Given the description of an element on the screen output the (x, y) to click on. 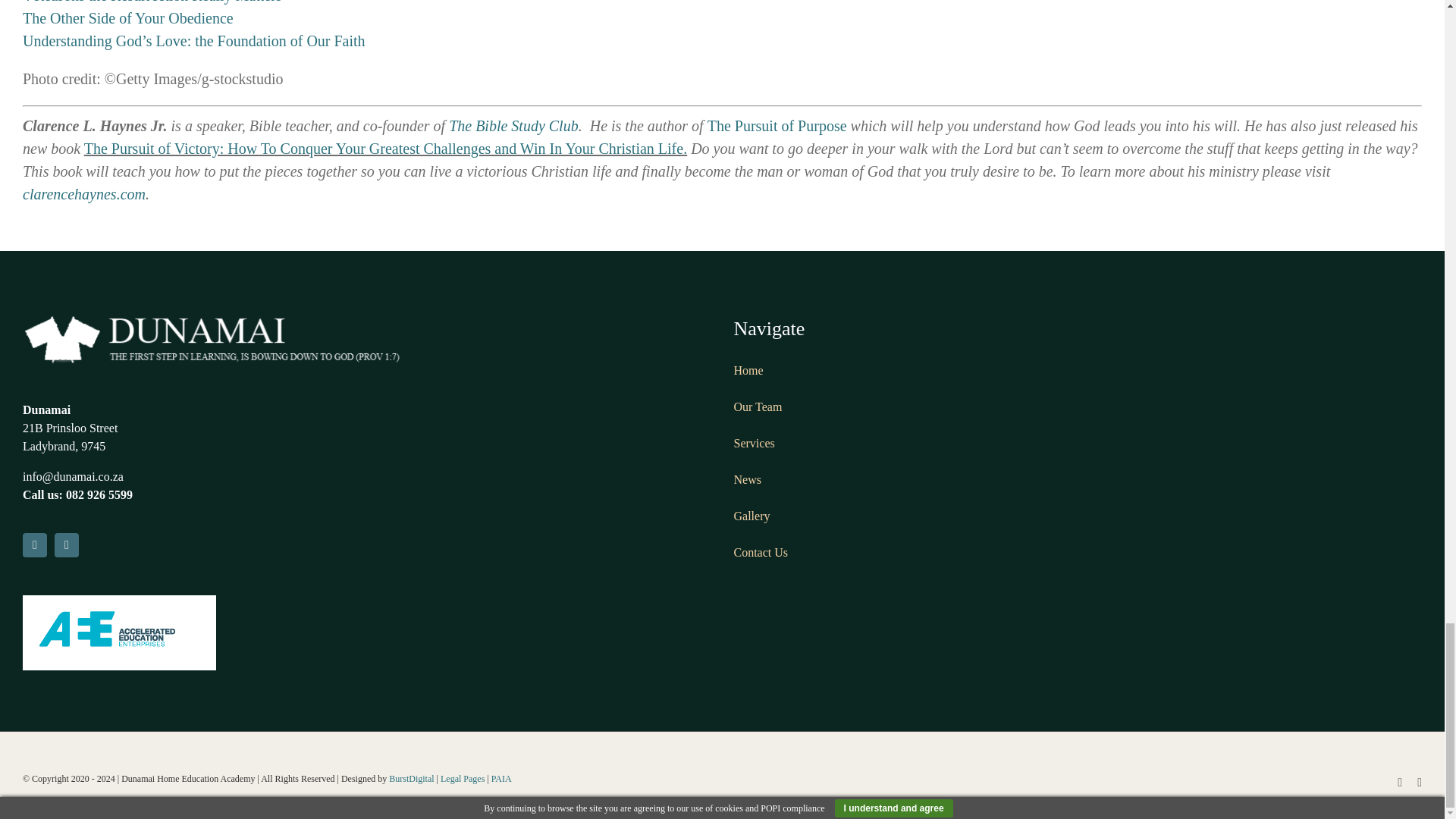
Home (747, 369)
Our Team (758, 406)
The Bible Study Club (513, 125)
Email (66, 545)
WhiteLogo (212, 338)
Facebook (34, 545)
The Other Side of Your Obedience (127, 17)
clarencehaynes.com (84, 193)
Services (753, 442)
